Given the description of an element on the screen output the (x, y) to click on. 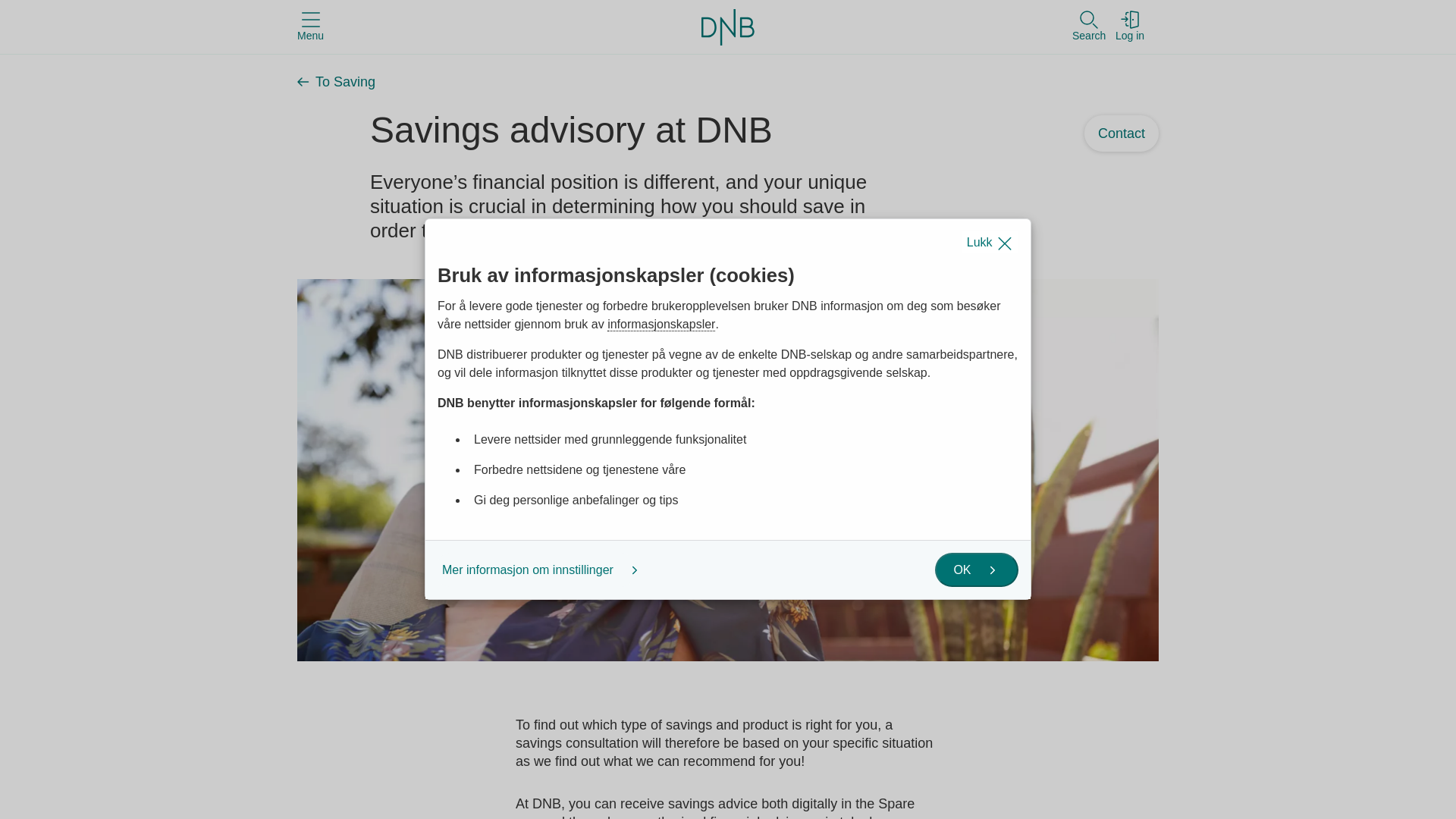
Go to DNB's website (727, 26)
Contact (1121, 133)
